Given the description of an element on the screen output the (x, y) to click on. 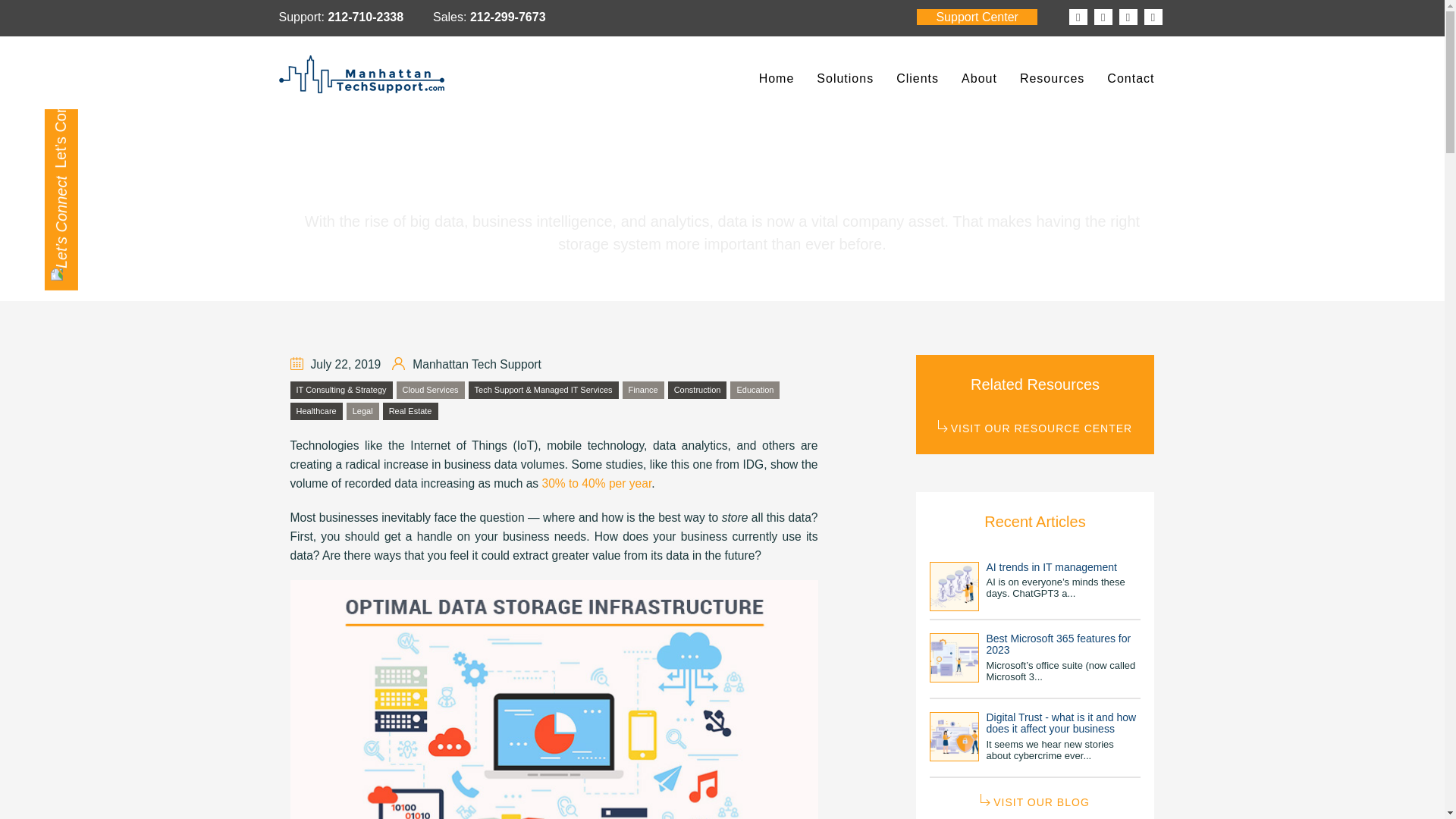
Solutions (845, 78)
Contact (1131, 78)
Clients (917, 78)
Support Center (976, 17)
Resources (1052, 78)
About (979, 78)
Home (777, 78)
